Given the description of an element on the screen output the (x, y) to click on. 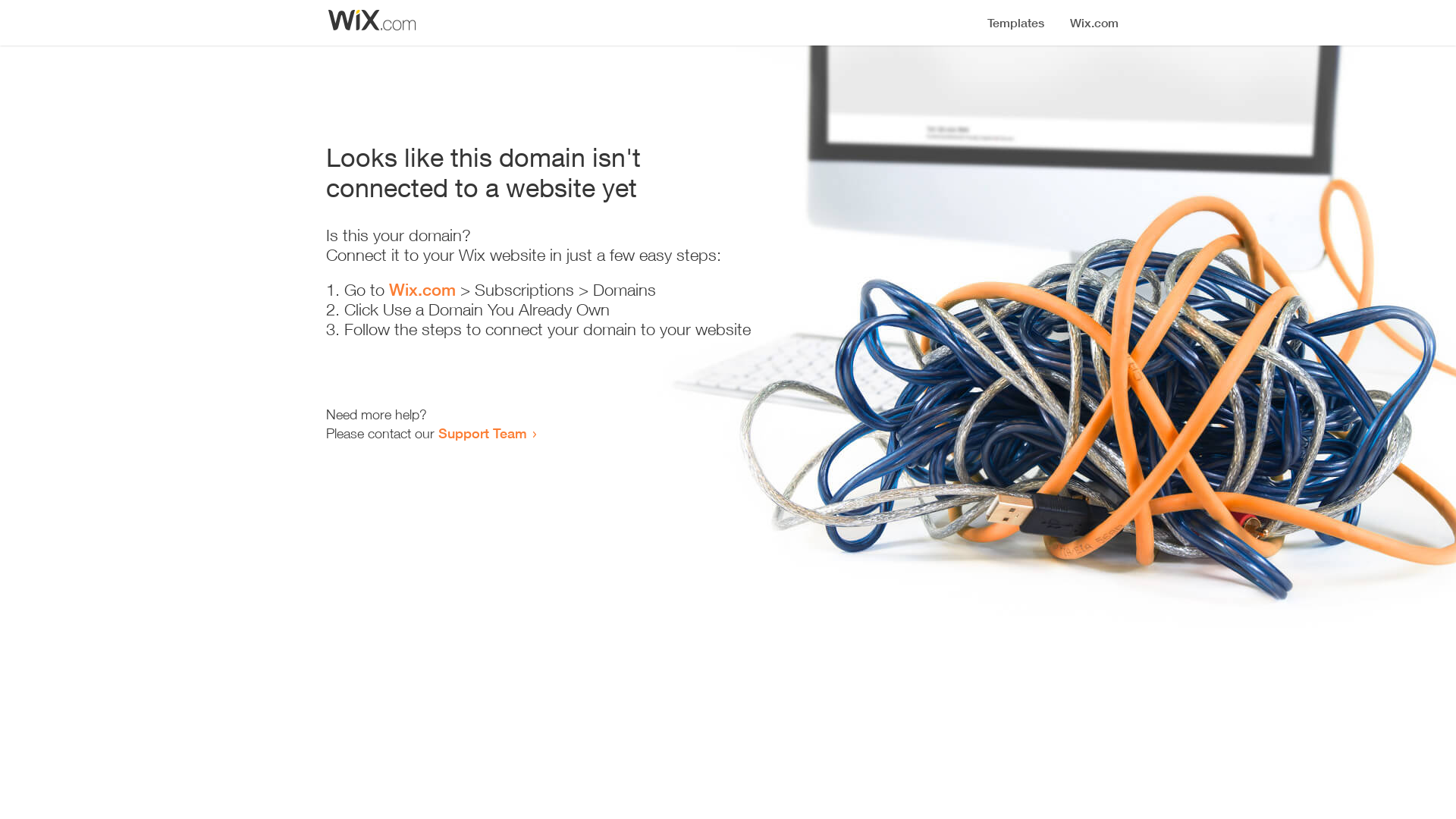
Wix.com Element type: text (422, 289)
Support Team Element type: text (482, 432)
